Given the description of an element on the screen output the (x, y) to click on. 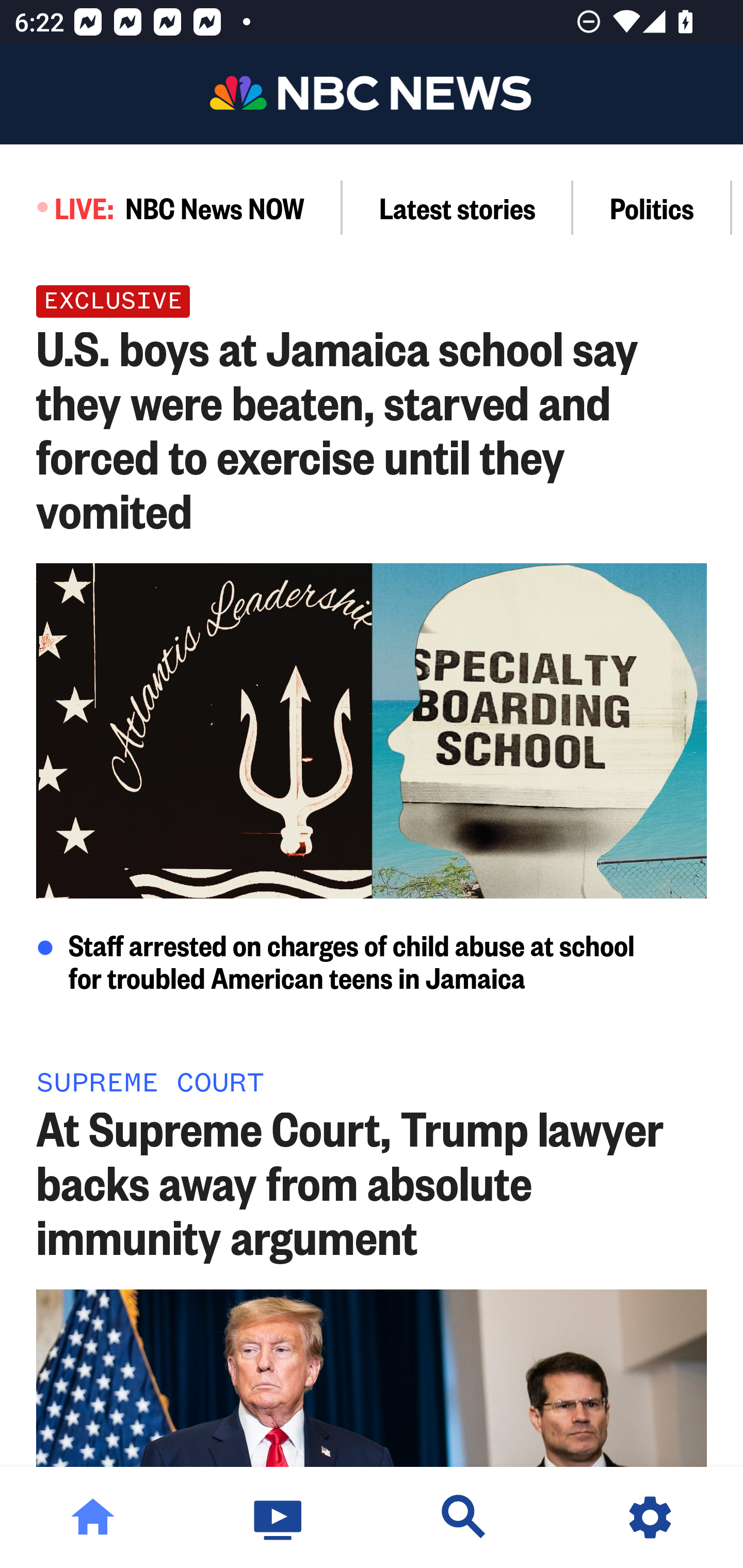
LIVE:  NBC News NOW (171, 207)
Latest stories Section,Latest stories (457, 207)
Politics Section,Politics (652, 207)
Watch (278, 1517)
Discover (464, 1517)
Settings (650, 1517)
